Given the description of an element on the screen output the (x, y) to click on. 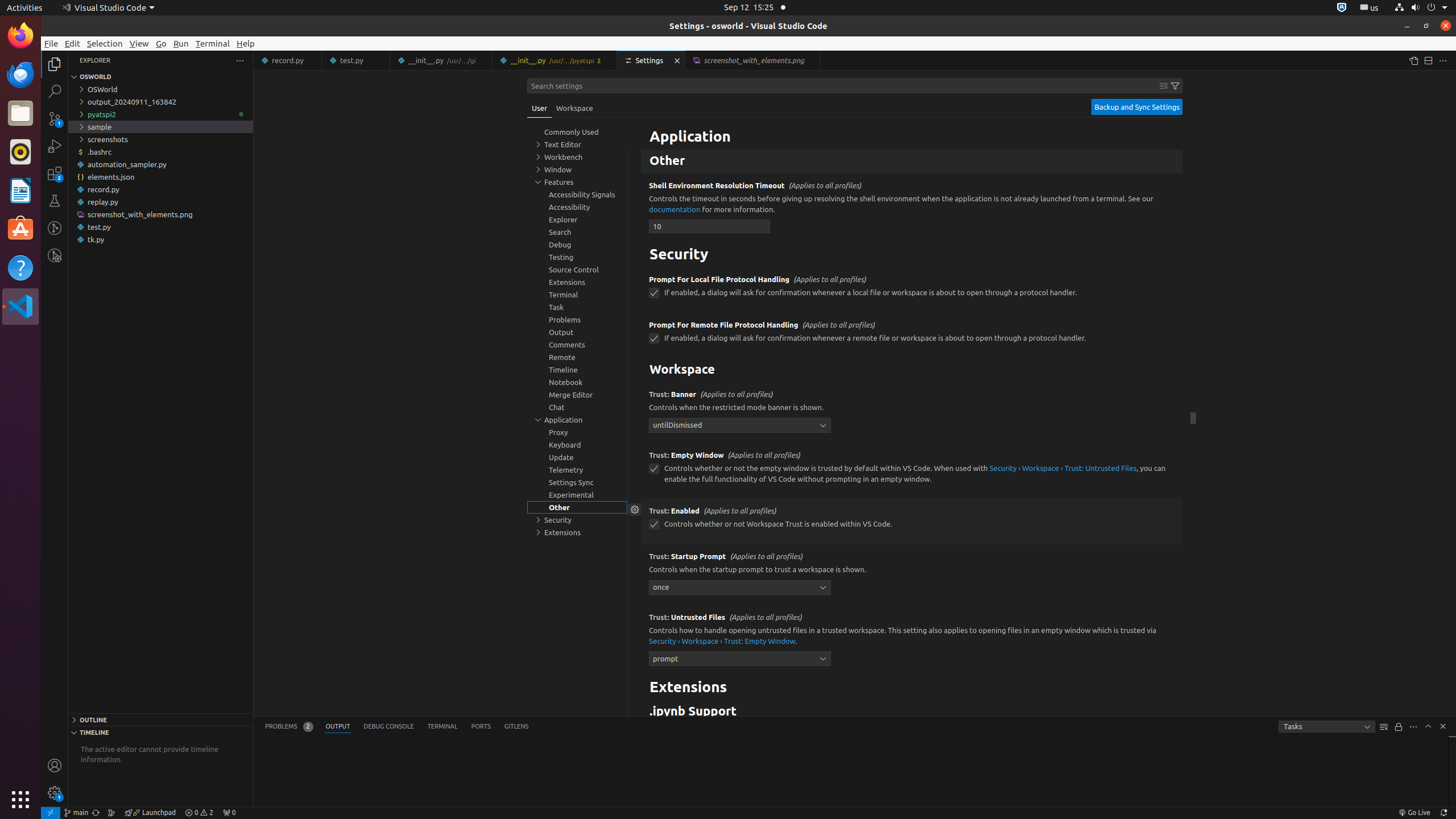
 Prompt For Remote File Protocol Handling. Setting value retained when switching profiles. If enabled, a dialog will ask for confirmation whenever a remote file or workspace is about to open through a protocol handler.  Element type: tree-item (911, 335)
Notifications Element type: push-button (1443, 812)
security.promptForLocalFileProtocolHandling Element type: check-box (653, 292)
OSWorld Element type: tree-item (160, 89)
Split Editor Down Element type: push-button (1427, 60)
